Given the description of an element on the screen output the (x, y) to click on. 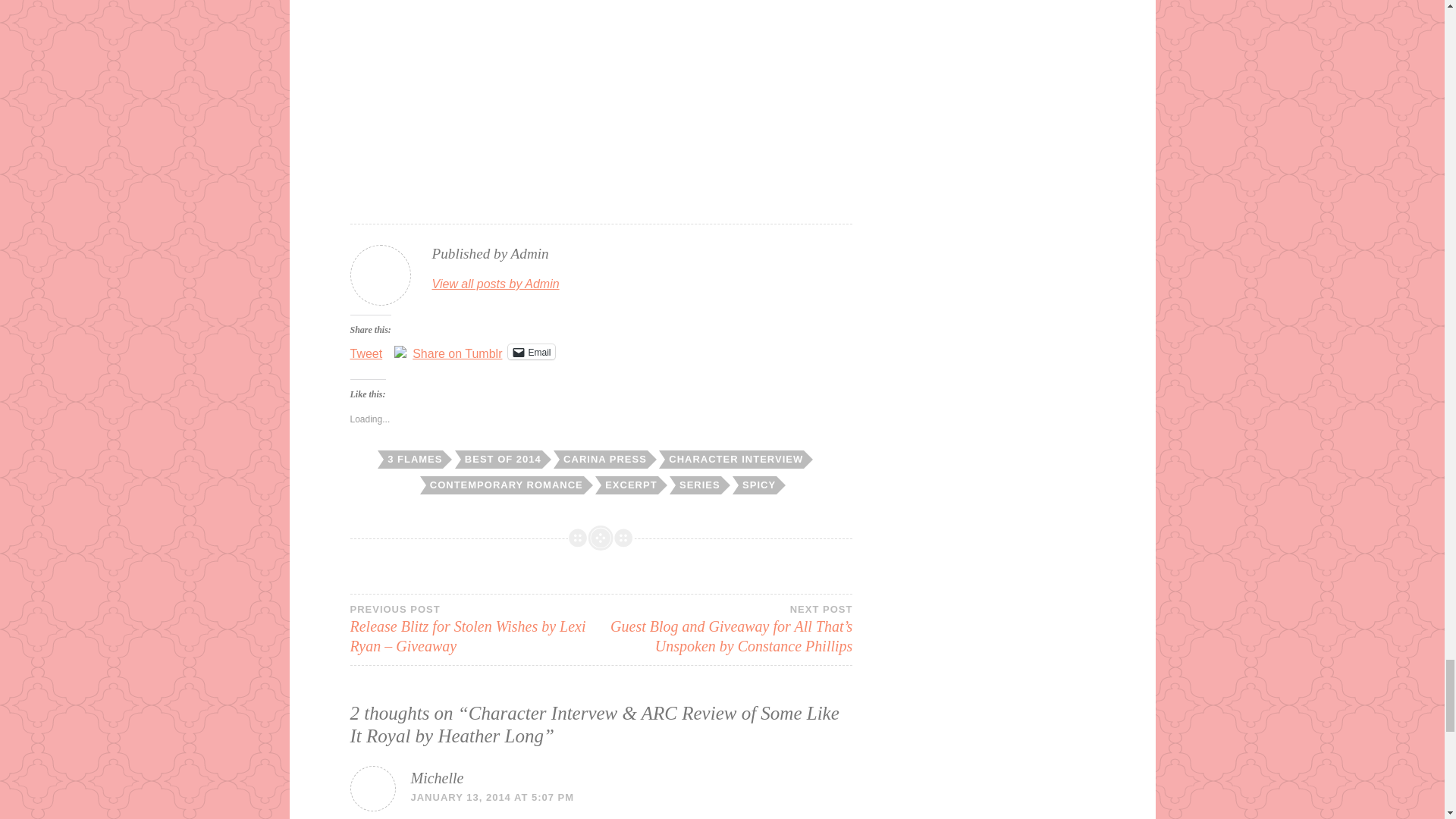
EXCERPT (629, 484)
Email (531, 351)
SPICY (757, 484)
Tweet (366, 350)
View all posts by Admin (495, 284)
Share on Tumblr (457, 350)
CHARACTER INTERVIEW (734, 459)
SERIES (697, 484)
Click to email a link to a friend (531, 351)
CARINA PRESS (603, 459)
3 FLAMES (413, 459)
BEST OF 2014 (501, 459)
CONTEMPORARY ROMANCE (504, 484)
Share on Tumblr (457, 350)
